Given the description of an element on the screen output the (x, y) to click on. 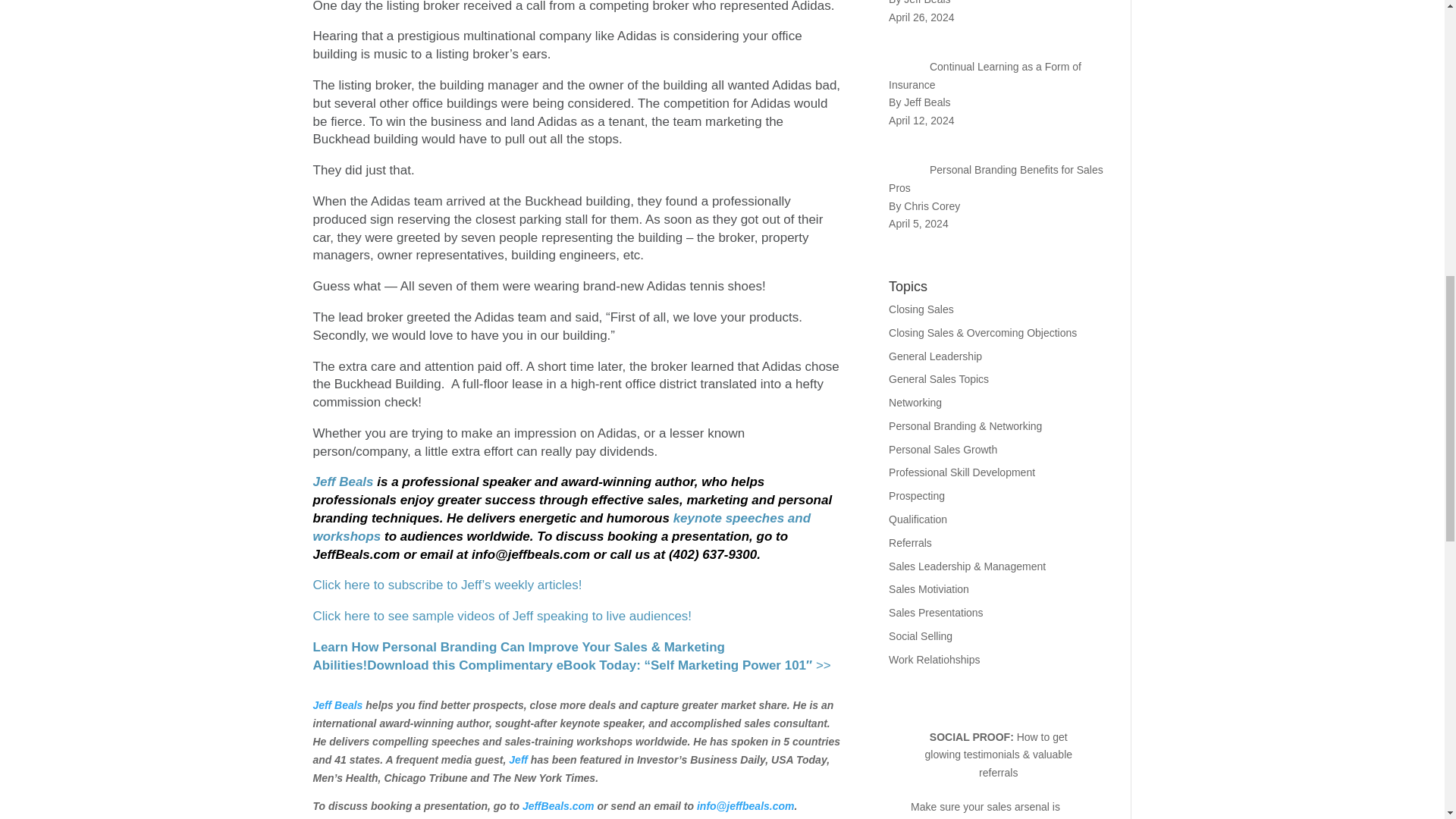
Networking (915, 402)
Jeff Beals  (345, 481)
Personal Sales Growth (942, 449)
General Sales Topics (938, 378)
Professional Skill Development (961, 472)
General Leadership (934, 356)
Personal Branding Benefits for Sales Pros (995, 178)
Continual Learning as a Form of Insurance (984, 75)
Jeff Beals (337, 705)
 keynote speeches and workshops (561, 527)
JeffBeals.com (558, 806)
Closing Sales (920, 309)
Jeff (517, 759)
